Given the description of an element on the screen output the (x, y) to click on. 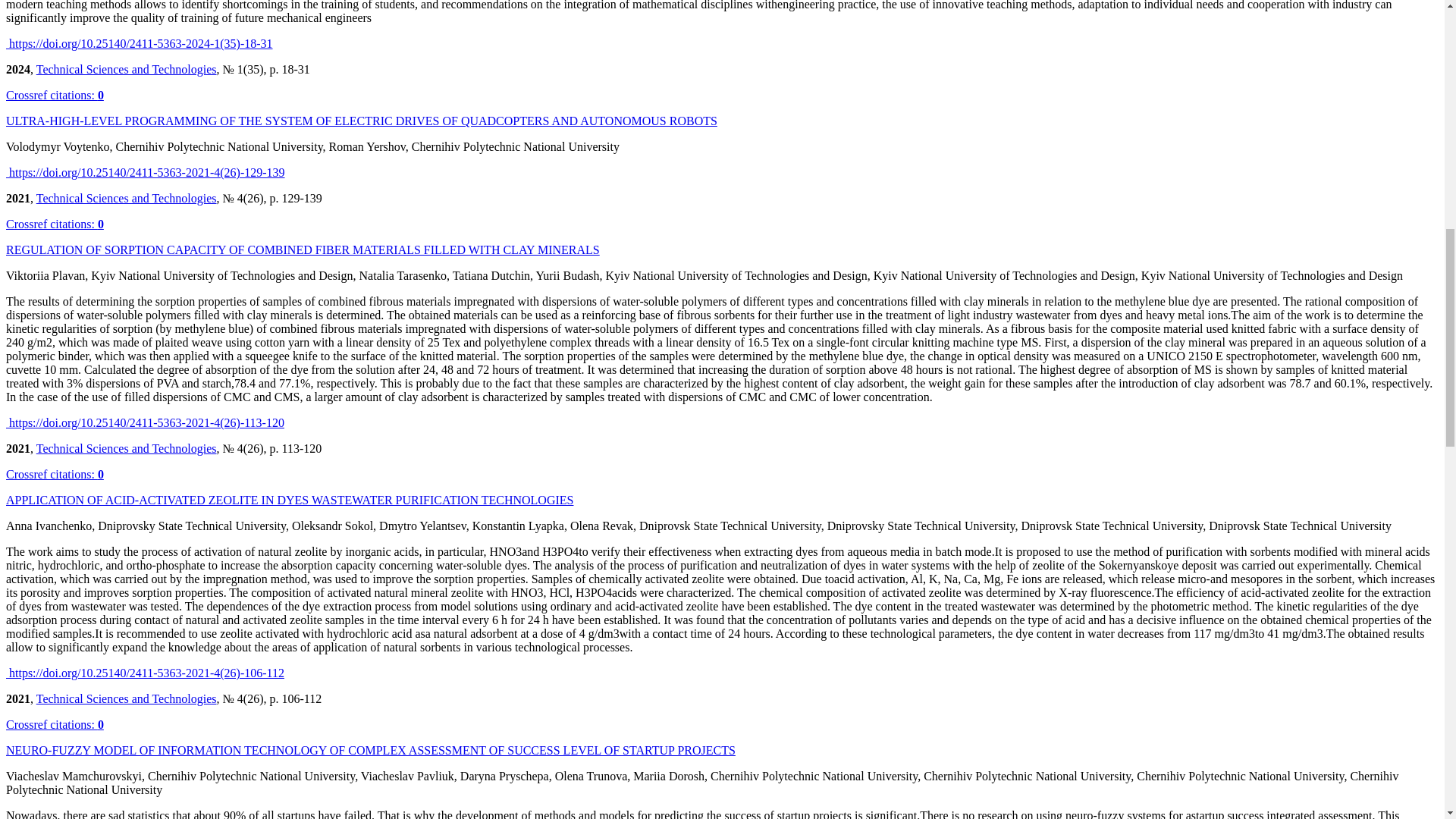
Technical Sciences and Technologies (126, 698)
Crossref citations: 0 (54, 94)
Crossref citations: 0 (54, 223)
Technical Sciences and Technologies (126, 69)
Crossref citations: 0 (54, 724)
Technical Sciences and Technologies (126, 448)
Crossref citations: 0 (54, 473)
